Given the description of an element on the screen output the (x, y) to click on. 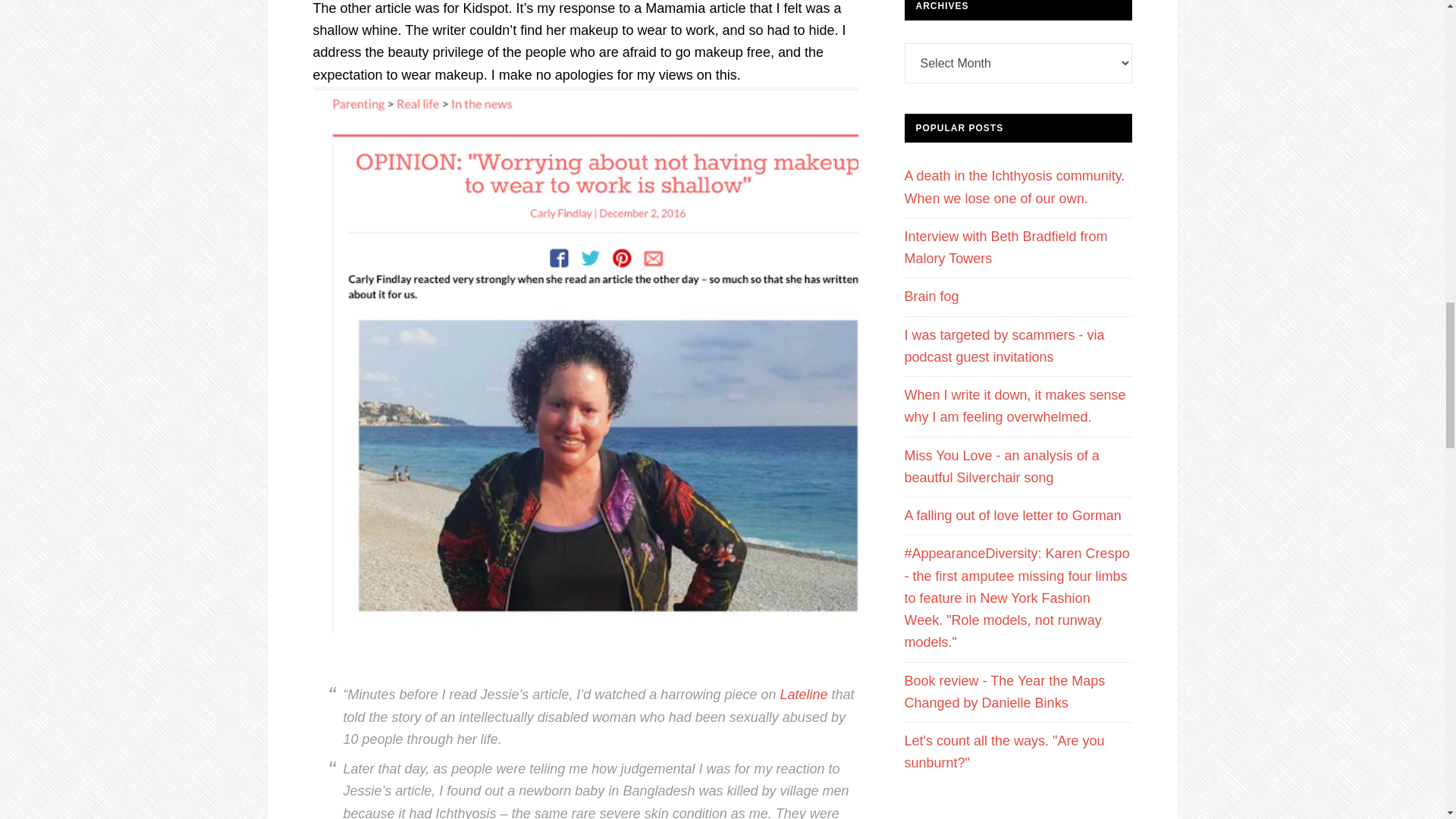
Lateline (802, 694)
